Given the description of an element on the screen output the (x, y) to click on. 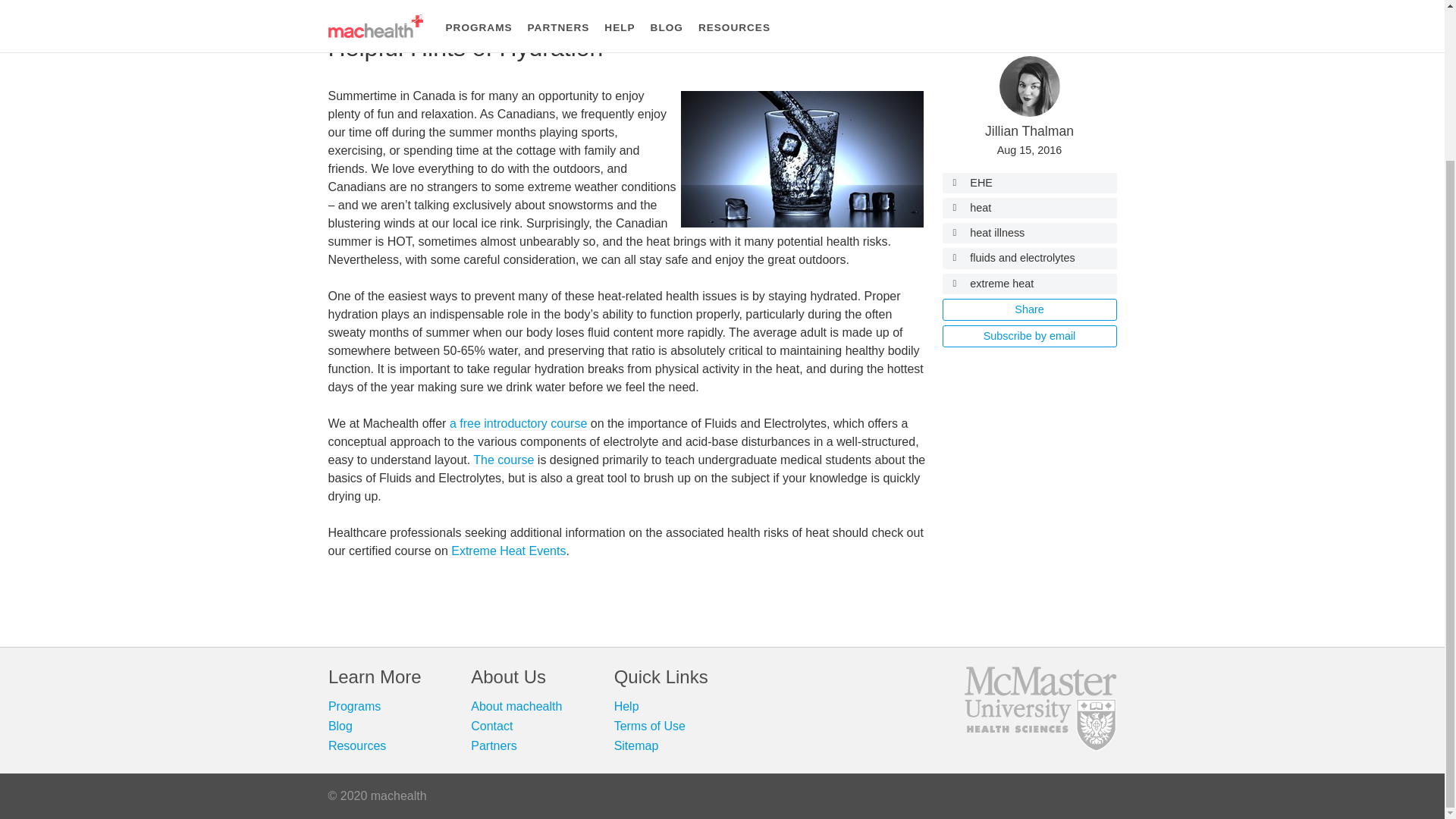
Programs (354, 706)
BLOG (433, 0)
heat illness (1029, 232)
About machealth (516, 706)
Blog (340, 725)
fluids and electrolytes (1029, 258)
Jillian Thalman (1029, 130)
a free introductory course (517, 423)
The course (503, 459)
extreme heat (1029, 283)
Help (626, 706)
Subscribe by email (1029, 336)
EHE (1029, 182)
Resources (357, 745)
RESOURCES (499, 0)
